Given the description of an element on the screen output the (x, y) to click on. 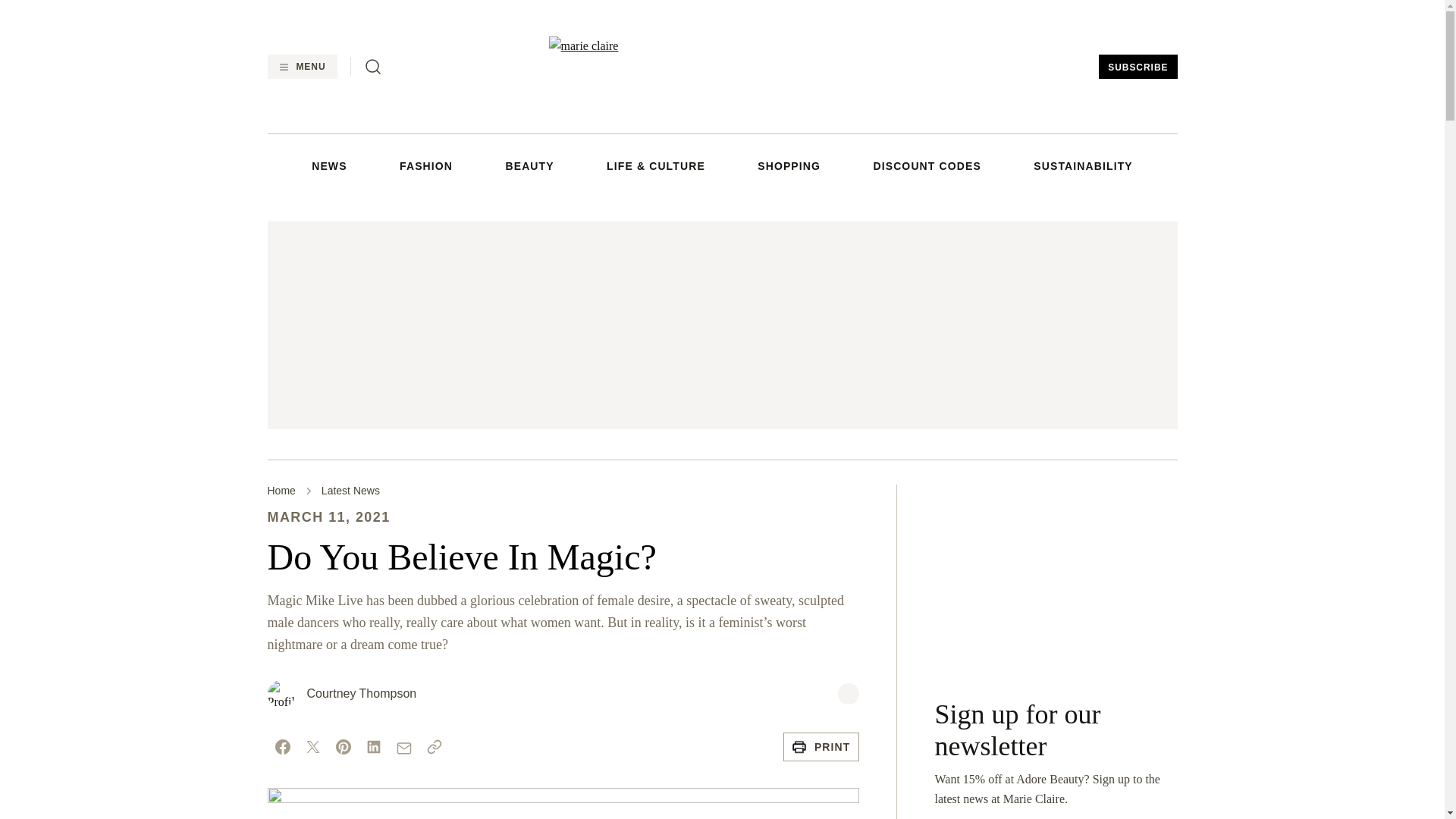
DISCOUNT CODES (925, 165)
MENU (301, 66)
NEWS (328, 165)
SHOPPING (789, 165)
FASHION (425, 165)
SUSTAINABILITY (1082, 165)
SUBSCRIBE (1137, 66)
BEAUTY (529, 165)
